Given the description of an element on the screen output the (x, y) to click on. 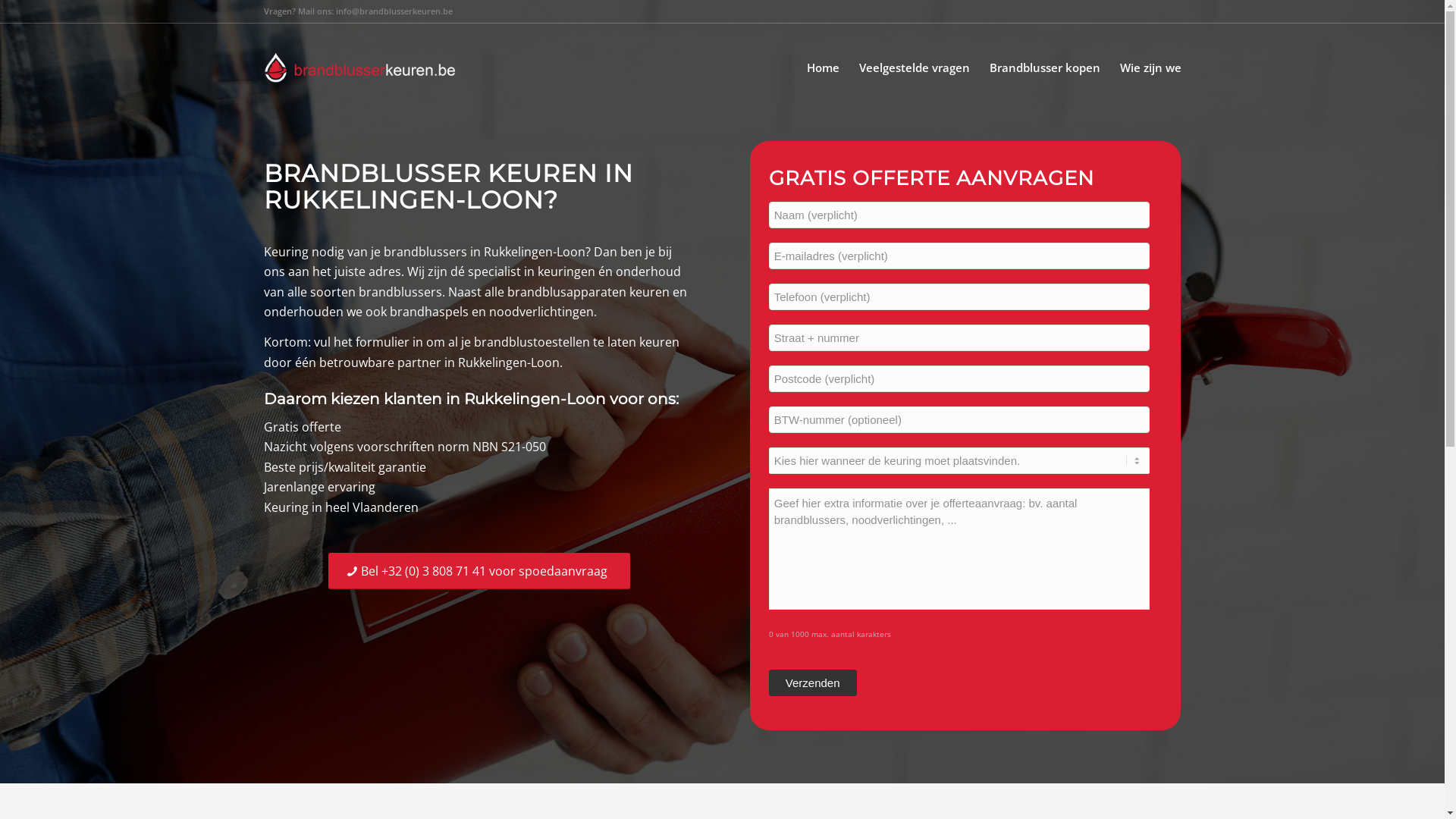
Bel +32 (0) 3 808 71 41 voor spoedaanvraag Element type: text (479, 570)
info@brandblusserkeuren.be Element type: text (393, 10)
Wie zijn we Element type: text (1145, 67)
Verzenden Element type: text (812, 682)
Home Element type: text (822, 67)
Veelgestelde vragen Element type: text (914, 67)
Brandblusser kopen Element type: text (1044, 67)
